Given the description of an element on the screen output the (x, y) to click on. 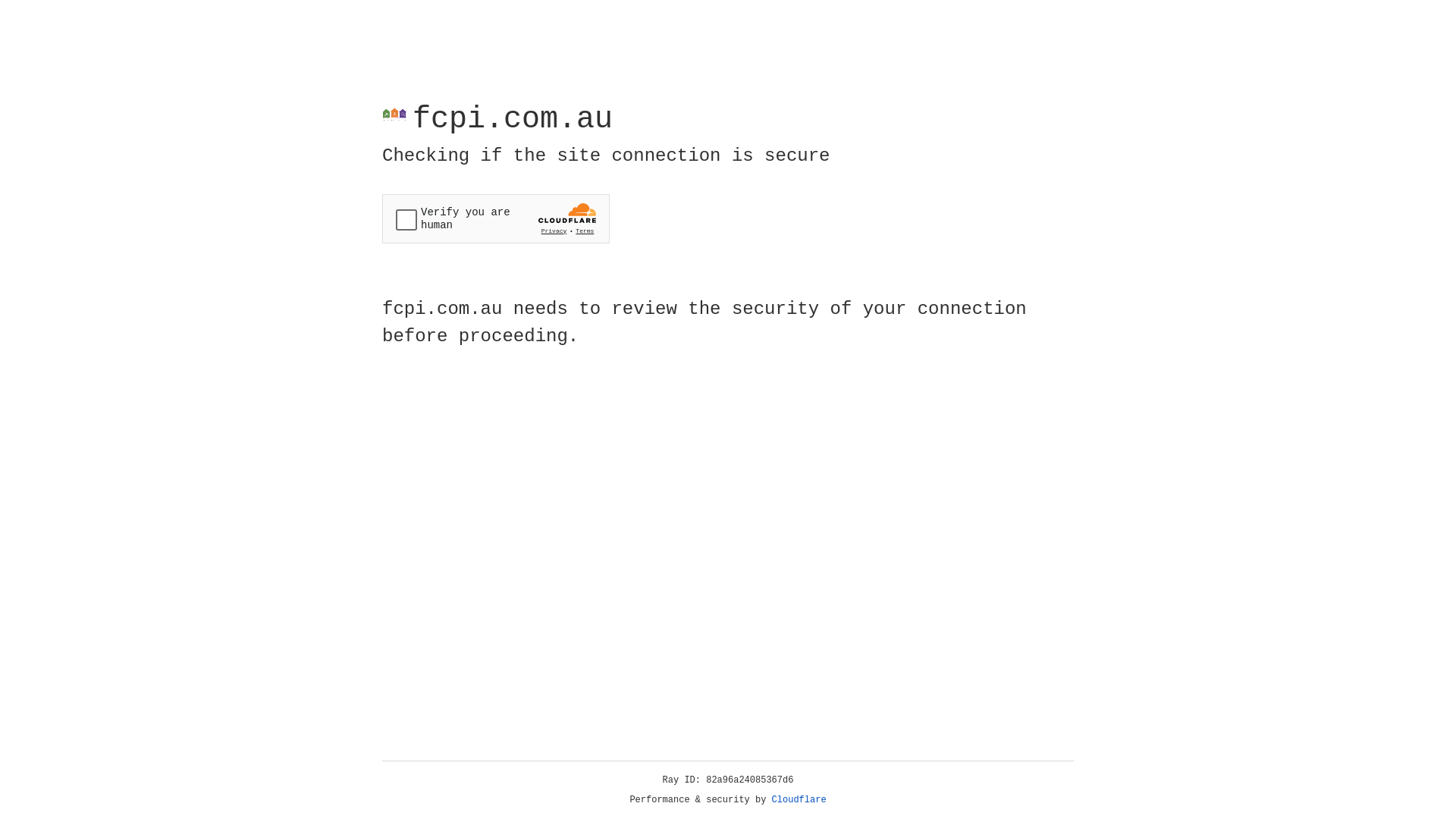
Widget containing a Cloudflare security challenge Element type: hover (495, 218)
Cloudflare Element type: text (798, 799)
